Given the description of an element on the screen output the (x, y) to click on. 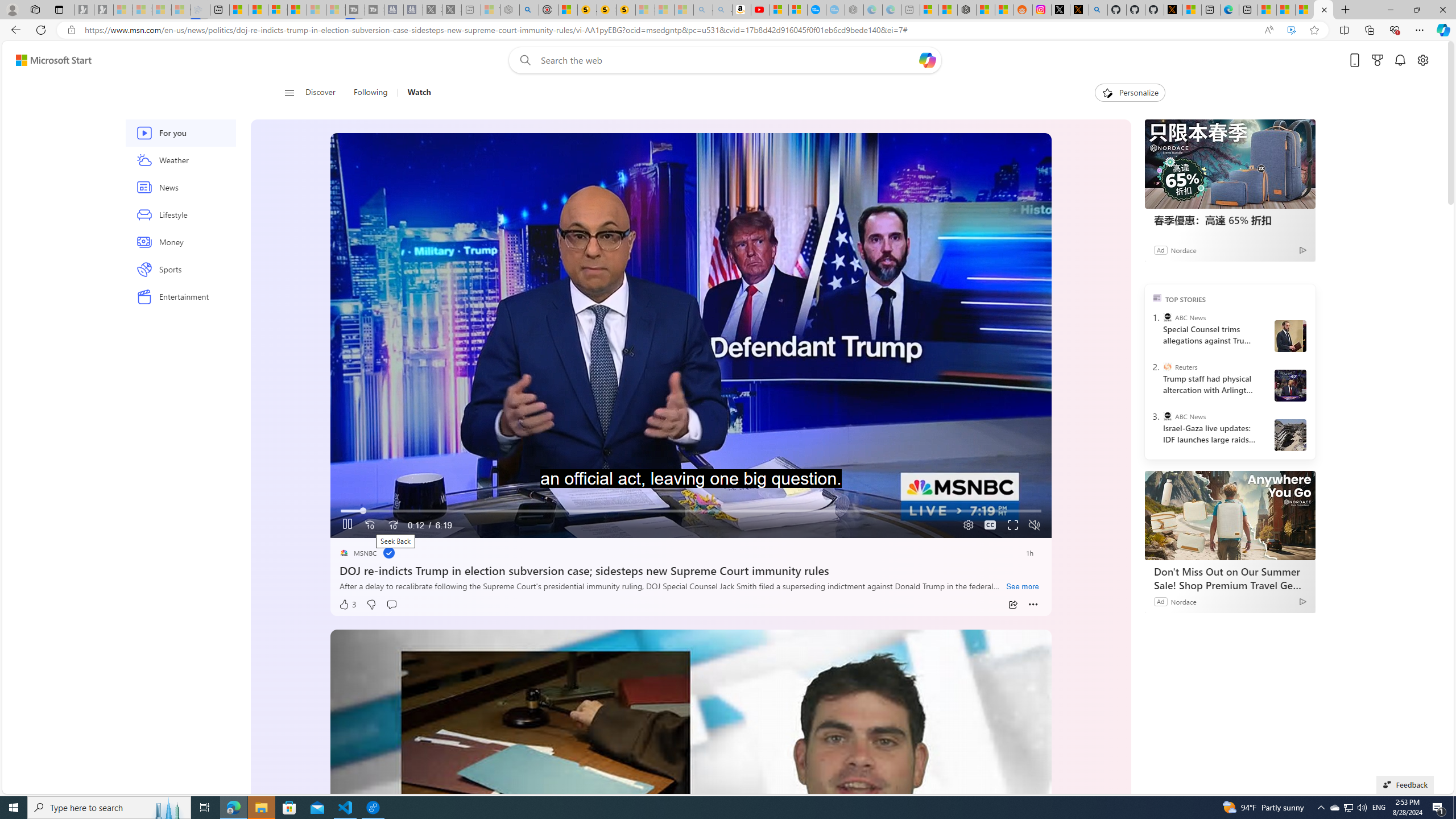
Quality Settings (967, 525)
Nordace - Nordace has arrived Hong Kong - Sleeping (853, 9)
help.x.com | 524: A timeout occurred (1079, 9)
poe - Search (529, 9)
Open settings (1423, 60)
Progress Bar (690, 510)
github - Search (1098, 9)
Shanghai, China Weather trends | Microsoft Weather (1004, 9)
